Given the description of an element on the screen output the (x, y) to click on. 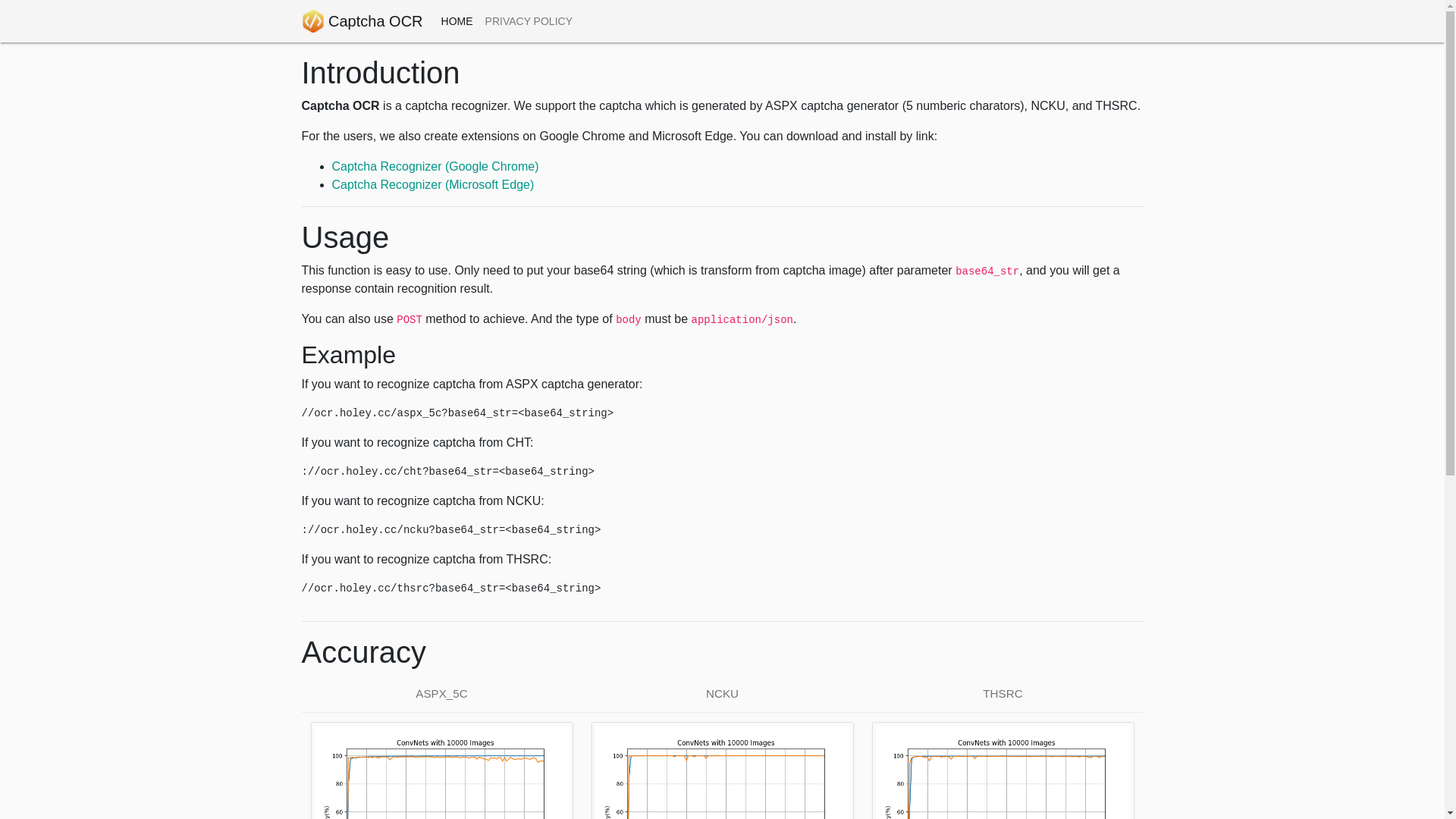
Captcha Recognizer (Microsoft Edge) Element type: text (433, 184)
PRIVACY POLICY Element type: text (528, 20)
Captcha Recognizer (Google Chrome) Element type: text (435, 166)
HOME Element type: text (457, 20)
Captcha OCR Element type: text (362, 21)
